Given the description of an element on the screen output the (x, y) to click on. 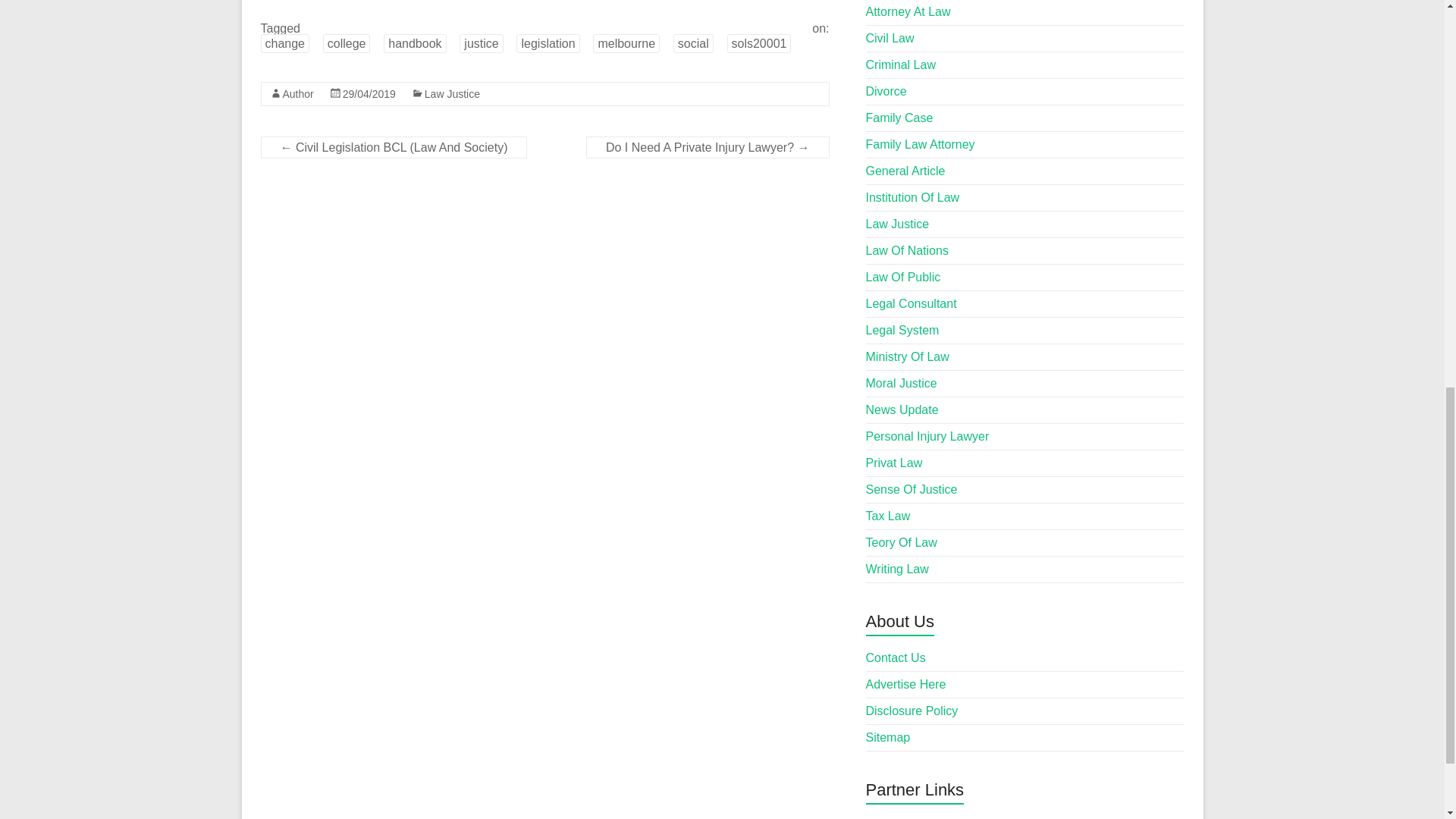
justice (481, 43)
sols20001 (758, 43)
handbook (414, 43)
Law Justice (452, 93)
change (285, 43)
college (347, 43)
Author (297, 93)
melbourne (625, 43)
social (692, 43)
legislation (547, 43)
